Given the description of an element on the screen output the (x, y) to click on. 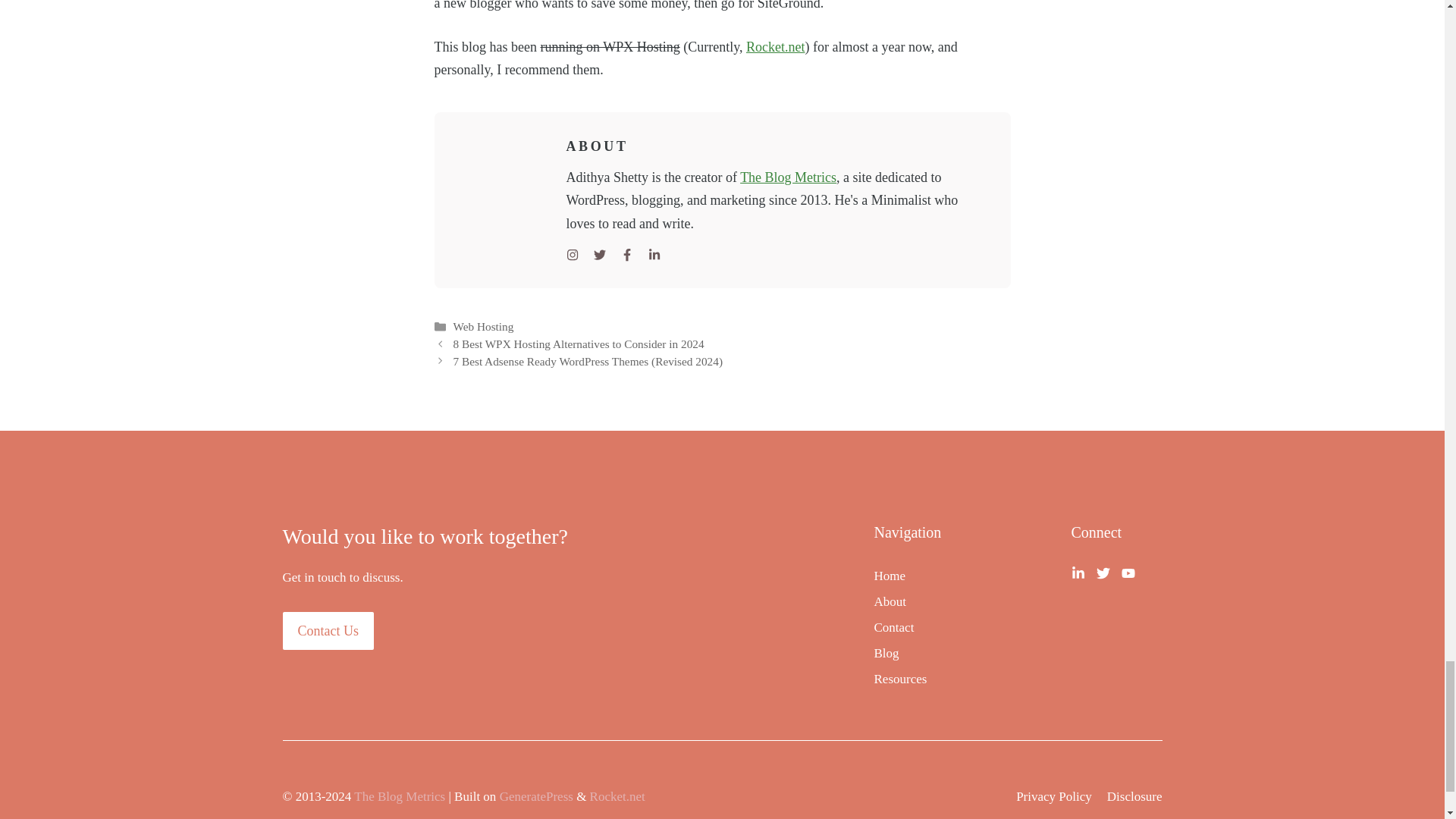
8 Best WPX Hosting Alternatives to Consider in 2024 (577, 343)
Rocket.net (775, 46)
Web Hosting (482, 326)
The Blog Metrics (787, 177)
